Given the description of an element on the screen output the (x, y) to click on. 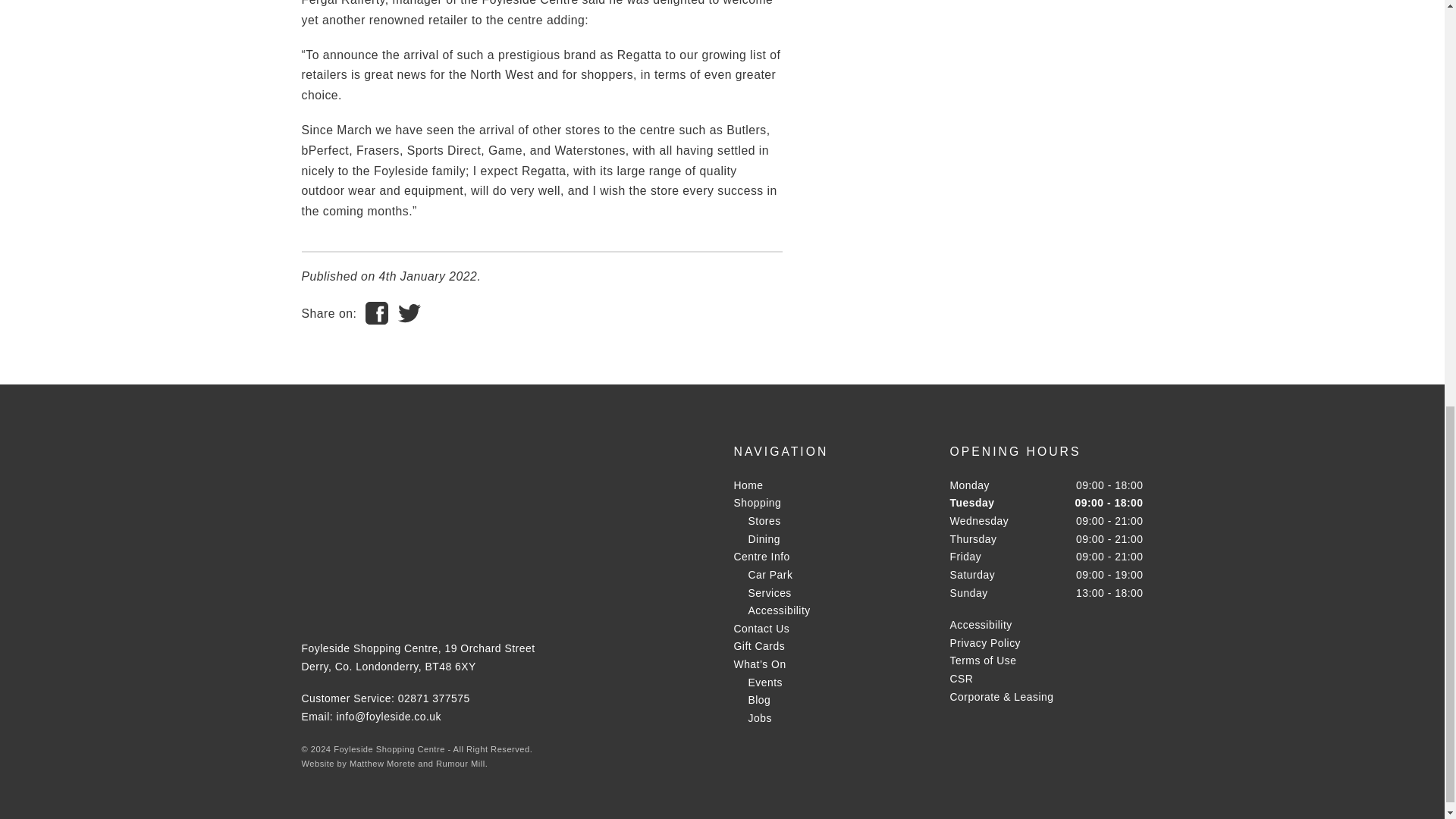
Car Park (770, 574)
Events (765, 682)
Stores (764, 521)
Services (769, 592)
Gift Cards (759, 645)
Foyleside (369, 499)
Twitter (350, 598)
02871 377575 (433, 698)
Facebook (315, 598)
Dining (763, 539)
Home (747, 485)
Instagram (385, 598)
TikTok (422, 598)
Accessibility (778, 610)
Centre Info (761, 556)
